Given the description of an element on the screen output the (x, y) to click on. 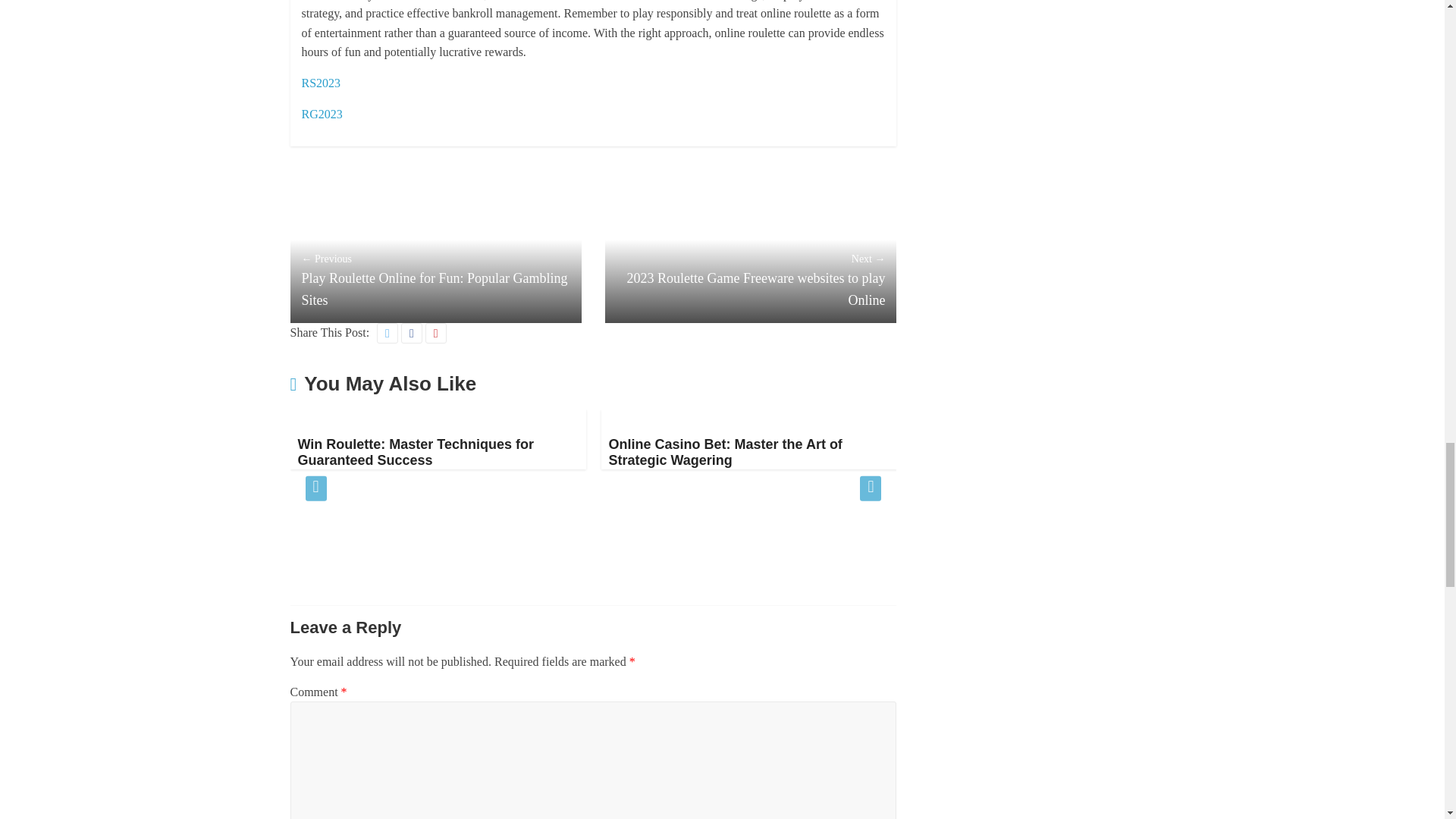
RS2023 (320, 82)
Win Roulette: Master Techniques for Guaranteed Success (325, 418)
Win Roulette: Master Techniques for Guaranteed Success (415, 452)
Online Casino Bet: Master the Art of Strategic Wagering (724, 452)
Win Roulette: Master Techniques for Guaranteed Success (415, 452)
RG2023 (321, 113)
